Given the description of an element on the screen output the (x, y) to click on. 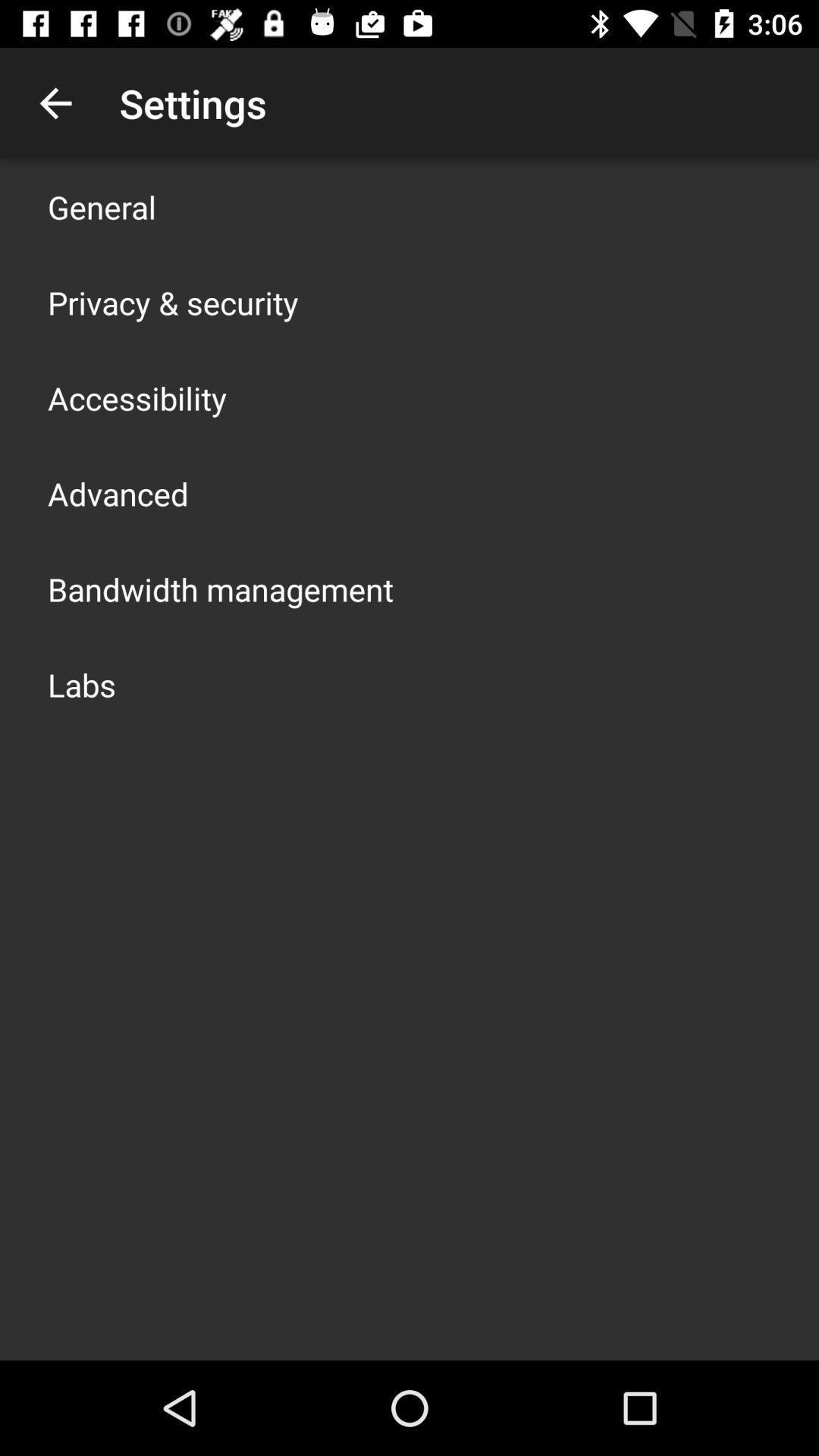
turn on the item below advanced item (220, 588)
